Given the description of an element on the screen output the (x, y) to click on. 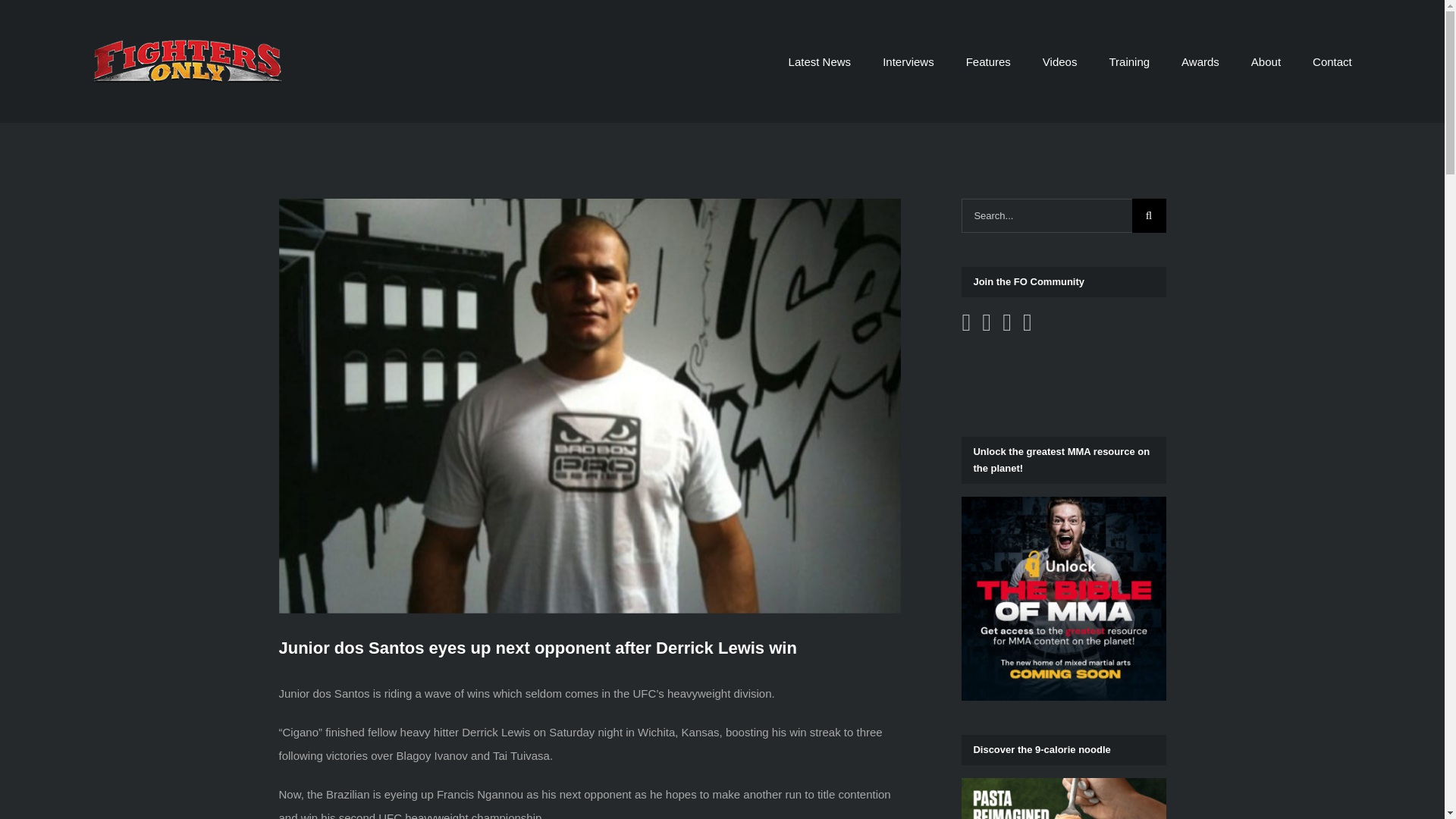
Latest News (820, 61)
Interviews (908, 61)
